Given the description of an element on the screen output the (x, y) to click on. 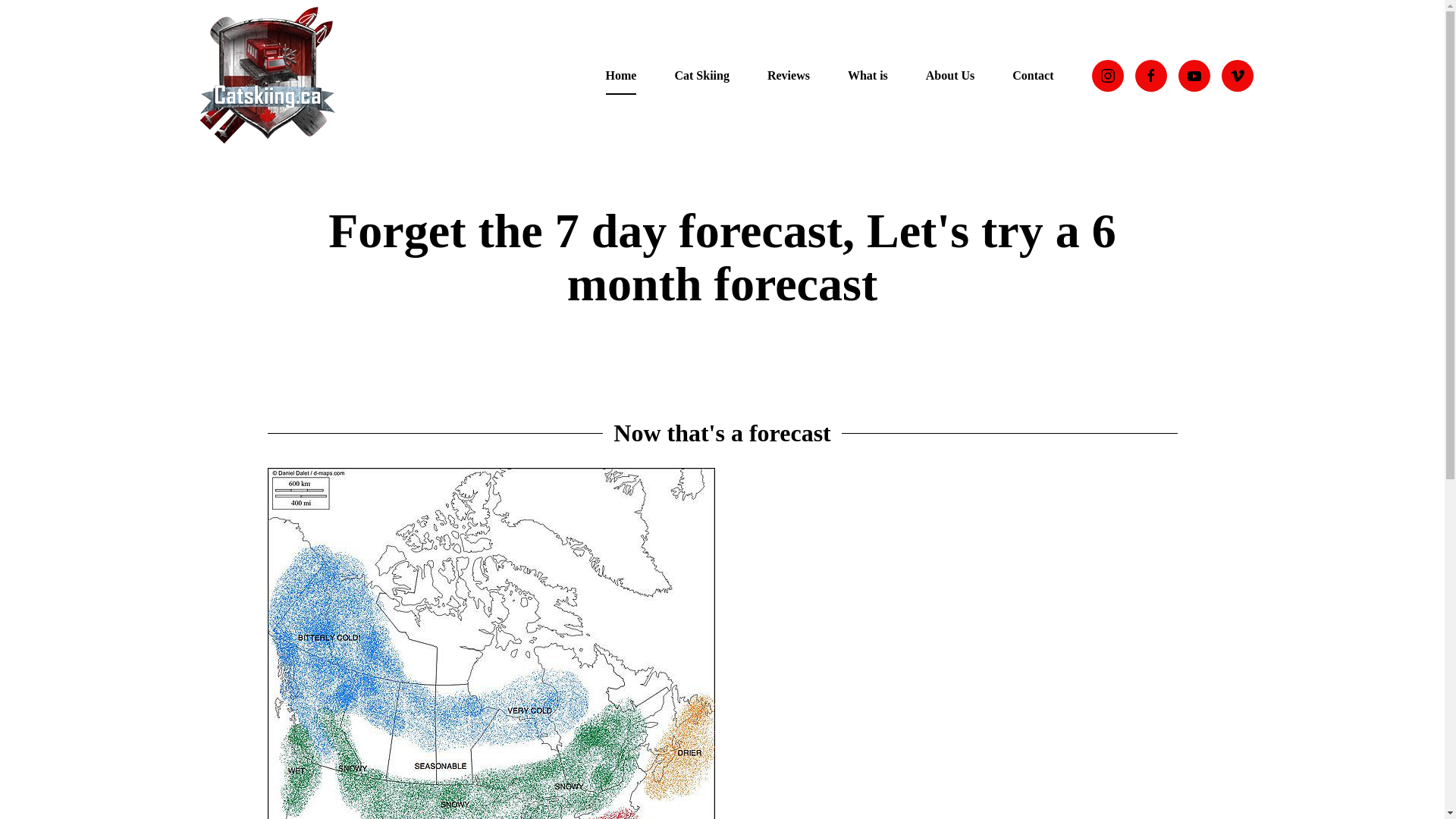
Cat Skiing (701, 75)
What is (867, 75)
Reviews (788, 75)
Home (621, 75)
